Given the description of an element on the screen output the (x, y) to click on. 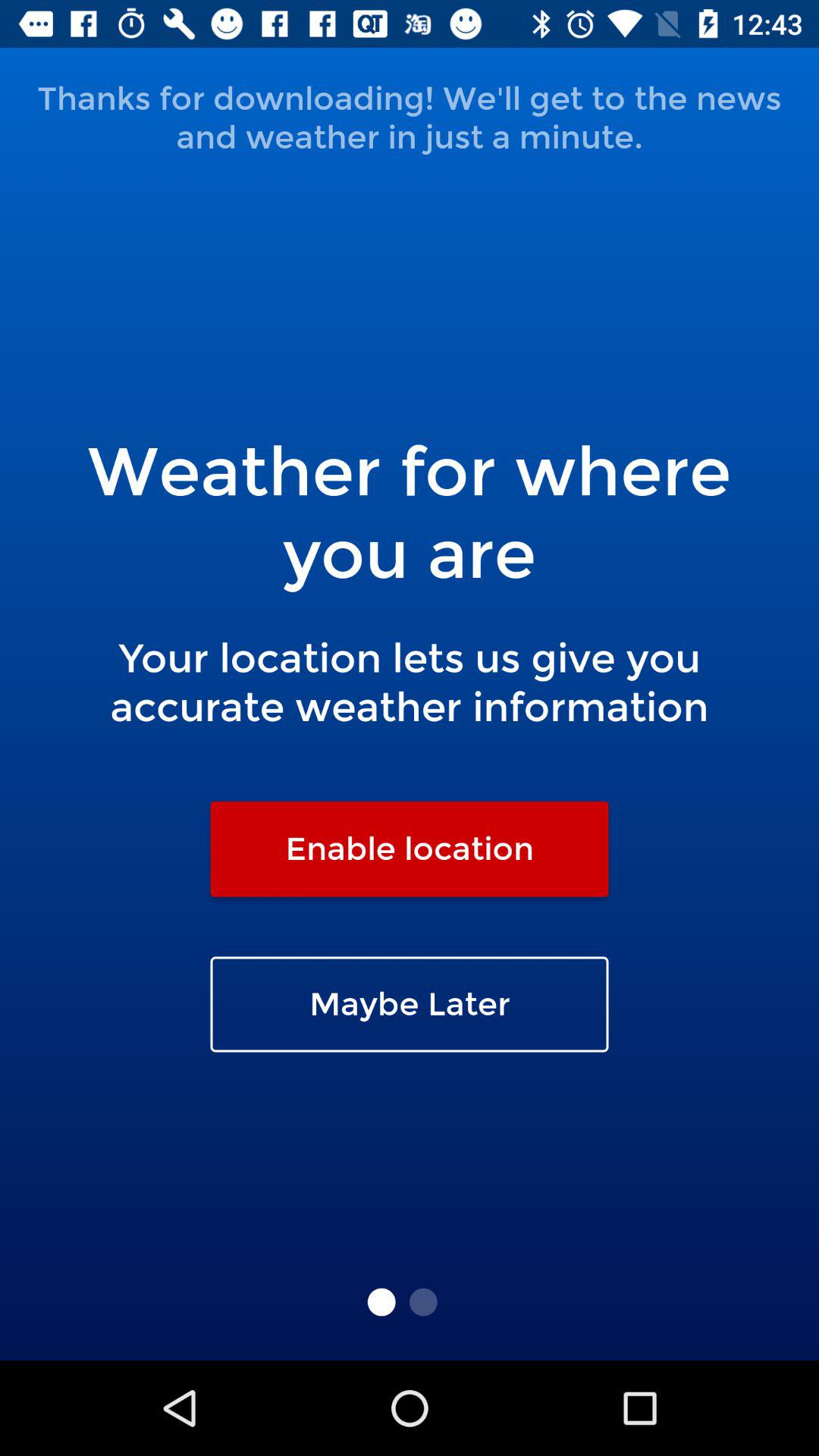
flip to enable location (409, 848)
